Given the description of an element on the screen output the (x, y) to click on. 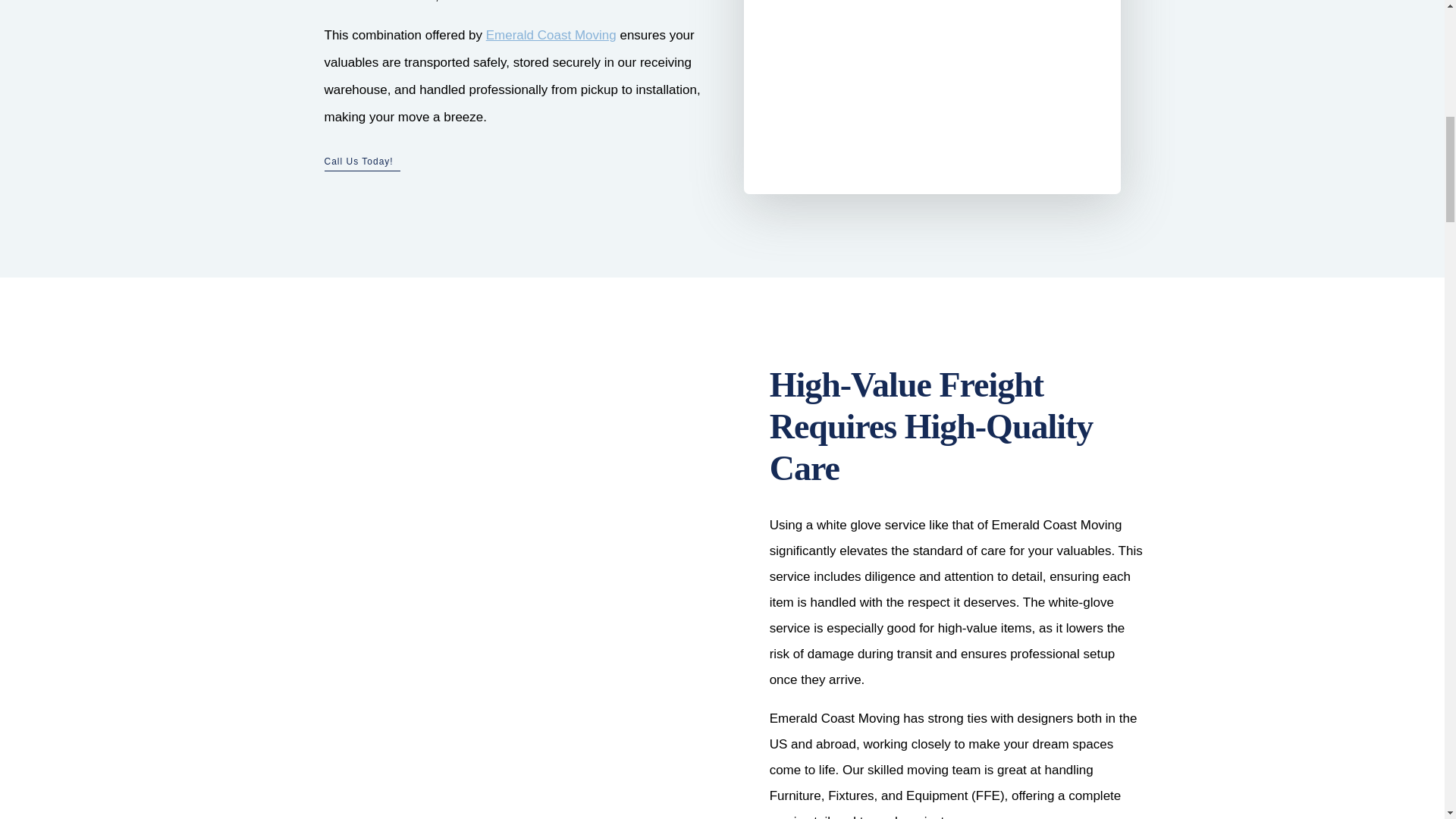
Call Us Today! (358, 161)
Emerald Coast Moving (550, 34)
